Given the description of an element on the screen output the (x, y) to click on. 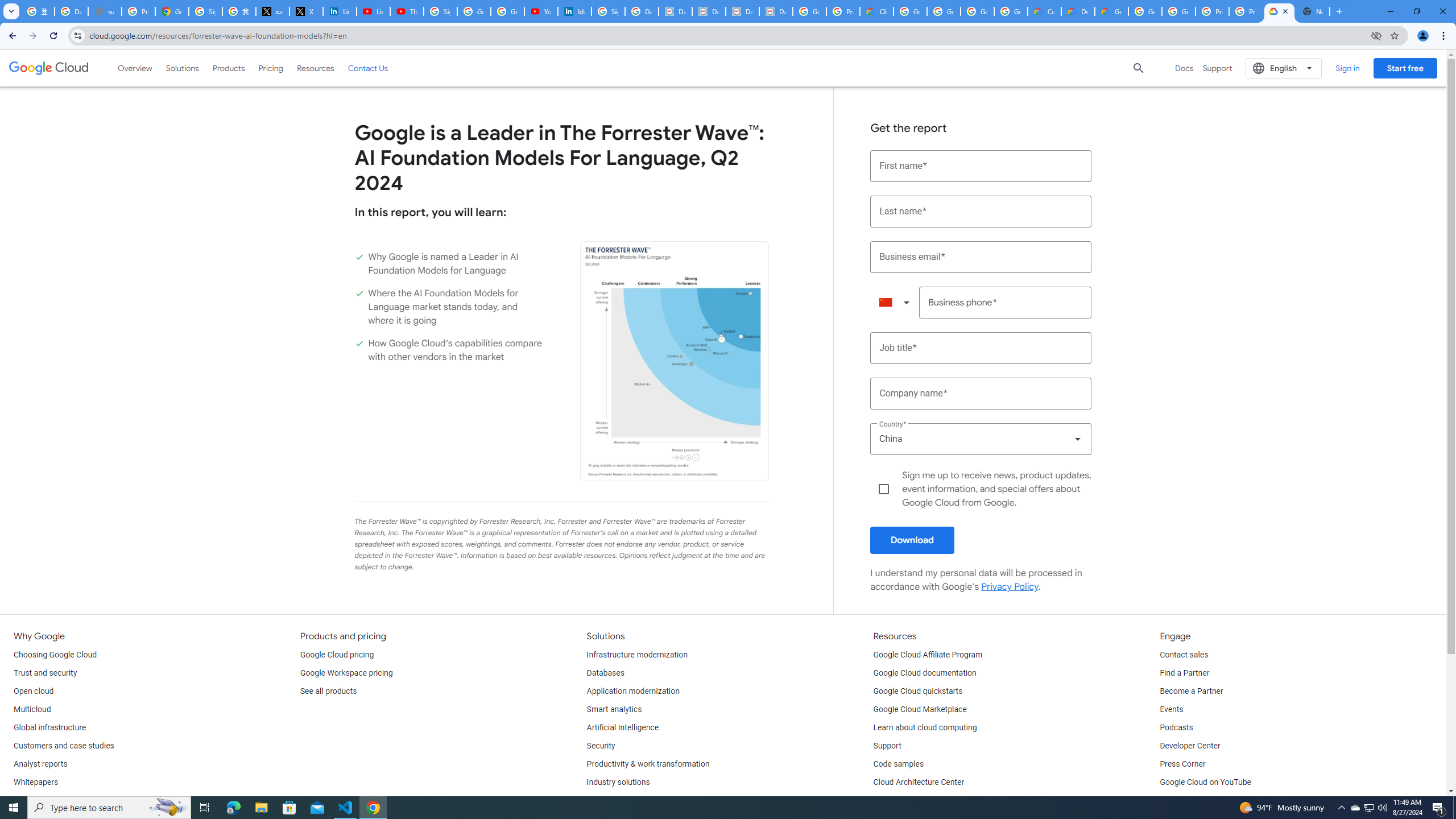
LinkedIn - YouTube (372, 11)
See all products (327, 691)
Security (600, 746)
Gemini for Business and Developers | Google Cloud (1111, 11)
Data Privacy Framework (708, 11)
Productivity & work transformation (648, 764)
Open cloud (33, 691)
Google Cloud Tech on YouTube (1214, 800)
Cloud Architecture Center (918, 782)
Privacy Policy (1009, 586)
LinkedIn Privacy Policy (339, 11)
Job title* (981, 347)
